Given the description of an element on the screen output the (x, y) to click on. 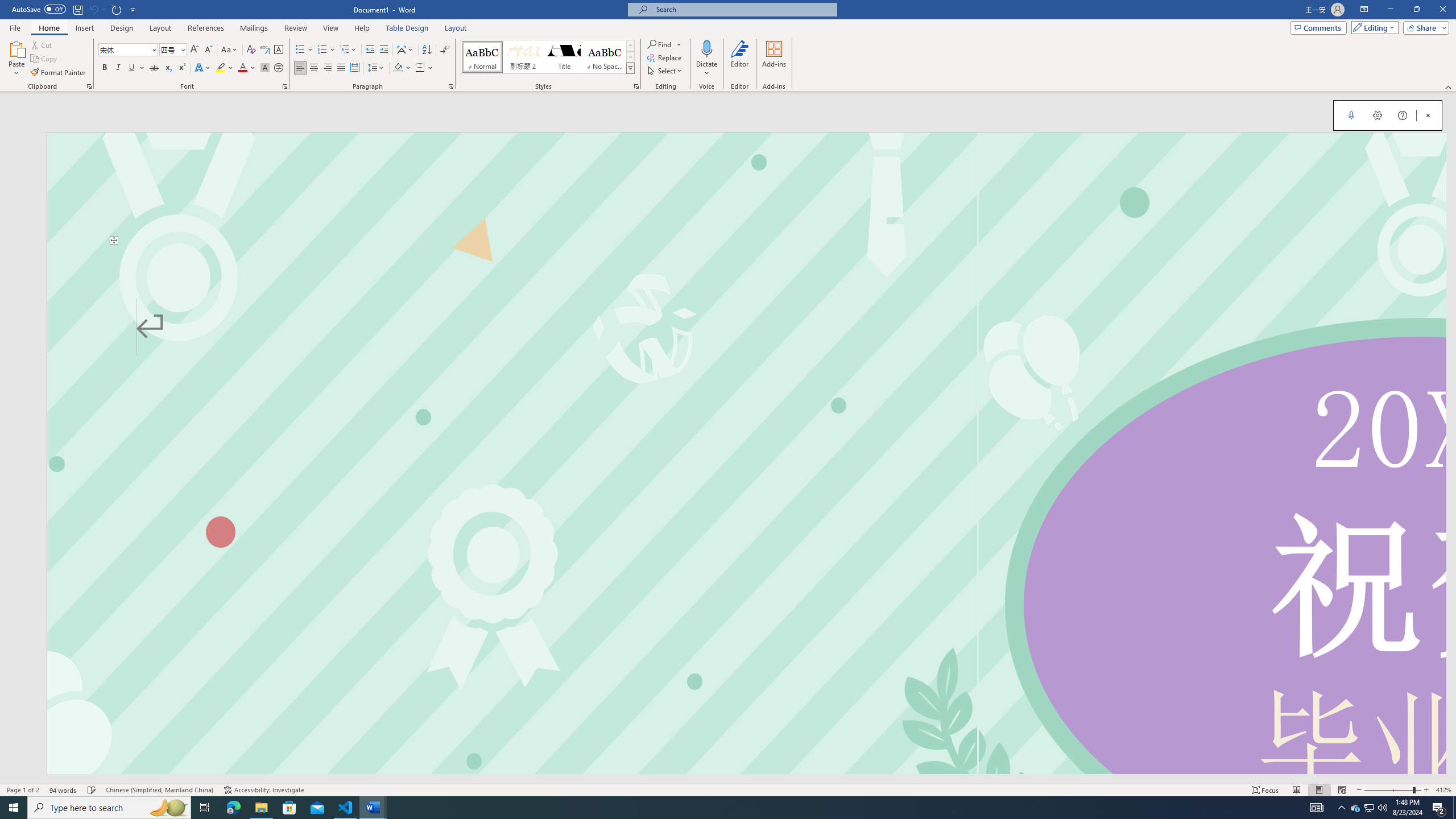
Change Case (229, 49)
Show/Hide Editing Marks (444, 49)
Page Number Page 1 of 2 (22, 790)
Character Border (278, 49)
AutomationID: QuickStylesGallery (548, 56)
Microsoft search (742, 9)
